Given the description of an element on the screen output the (x, y) to click on. 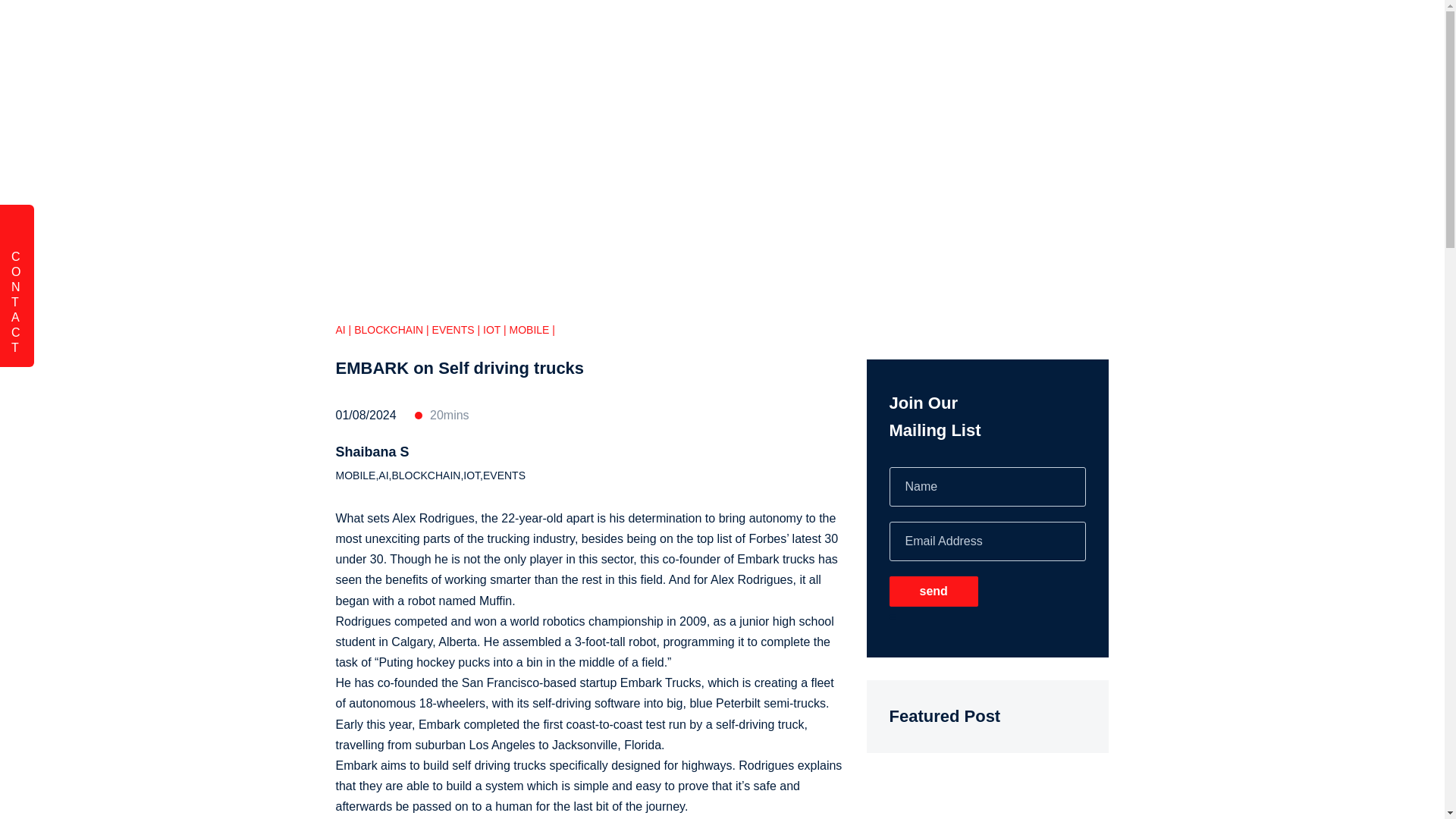
Technology (774, 33)
send (932, 591)
Our Works (871, 33)
Industries (962, 33)
Services (676, 33)
About (1045, 33)
